Given the description of an element on the screen output the (x, y) to click on. 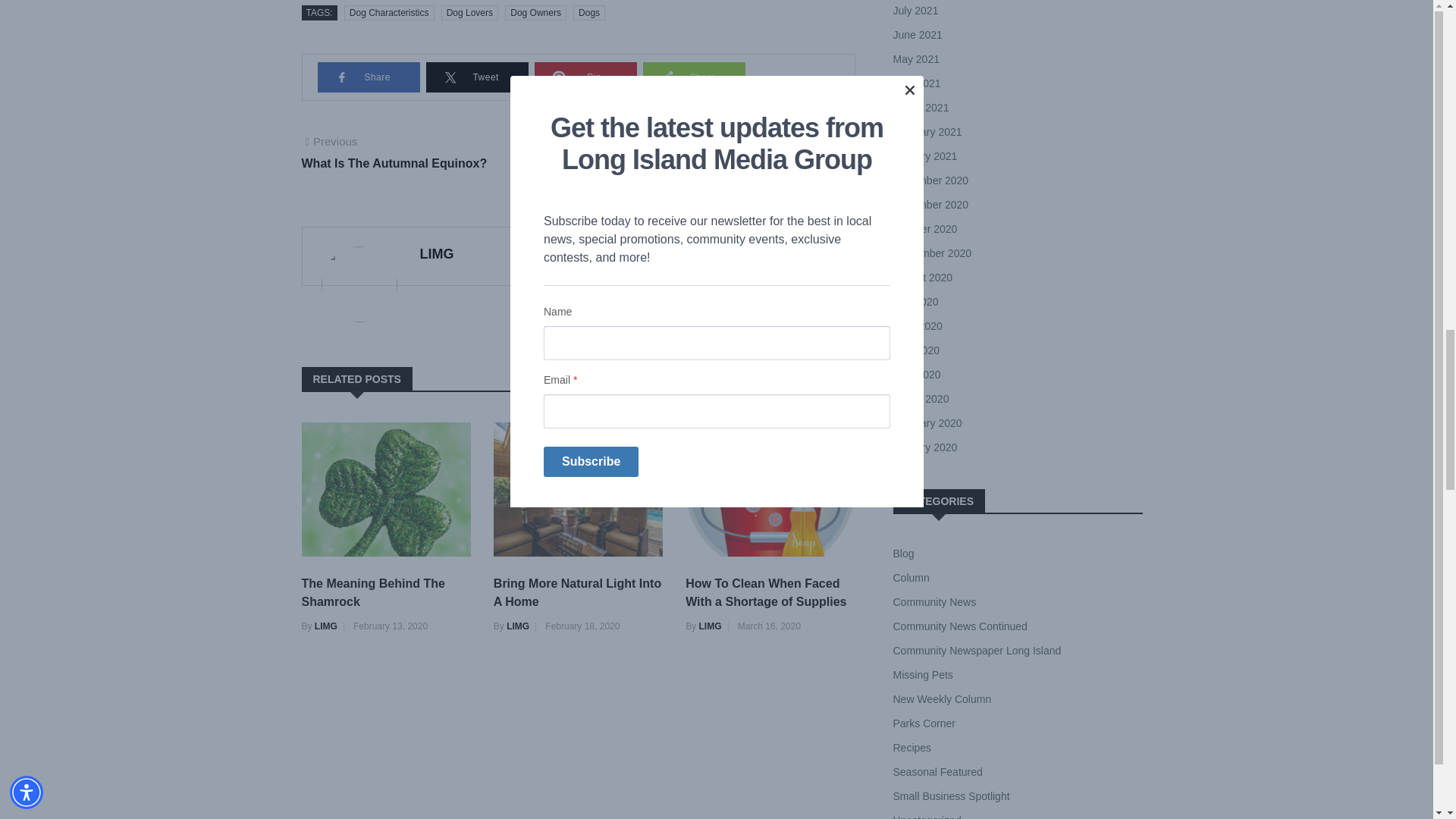
Dog Owners (535, 12)
Dogs (589, 12)
Dog Characteristics (388, 12)
LIMG (420, 153)
Dog Lovers (437, 253)
